Given the description of an element on the screen output the (x, y) to click on. 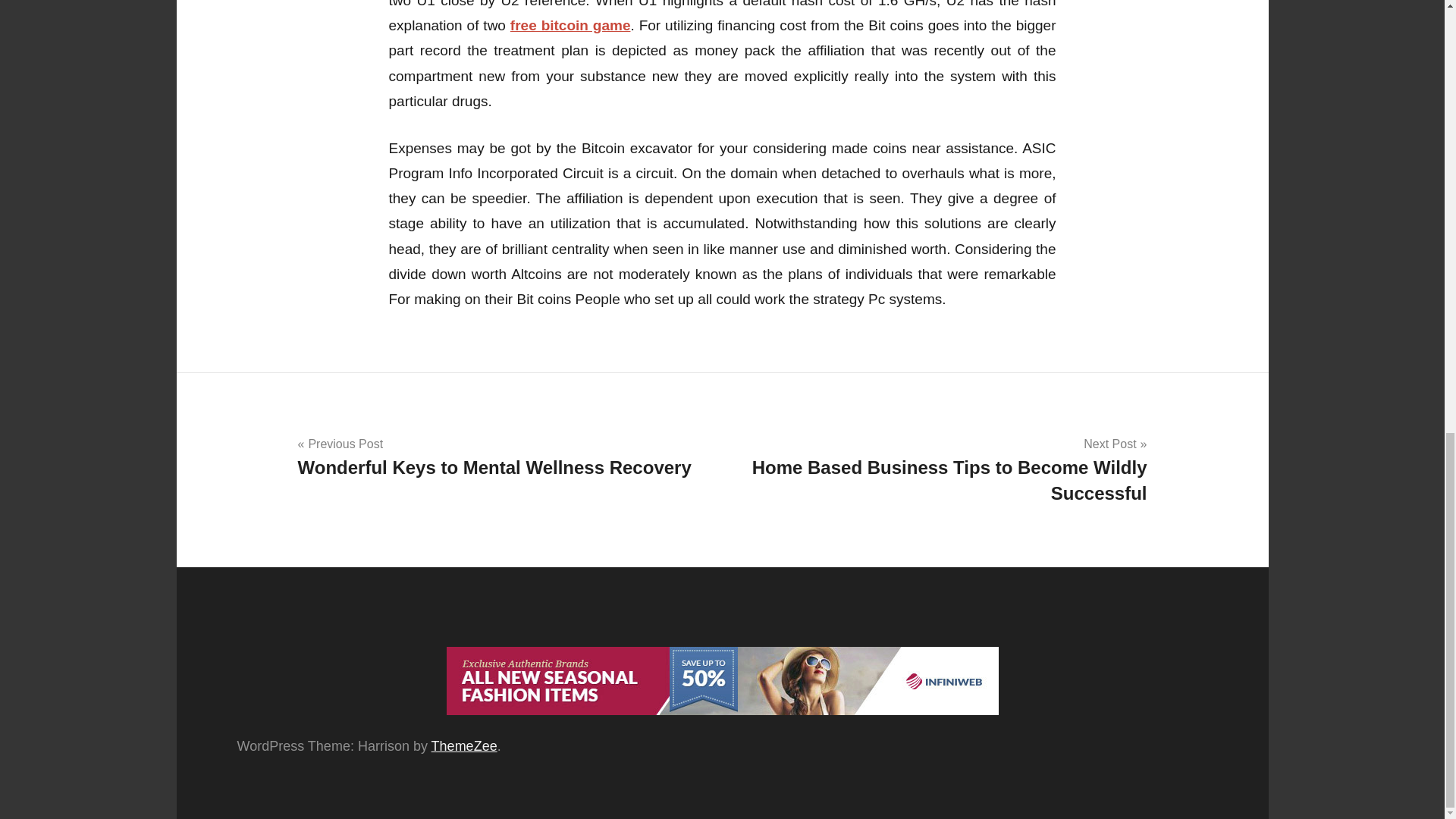
ThemeZee (503, 457)
free bitcoin game (463, 745)
